Given the description of an element on the screen output the (x, y) to click on. 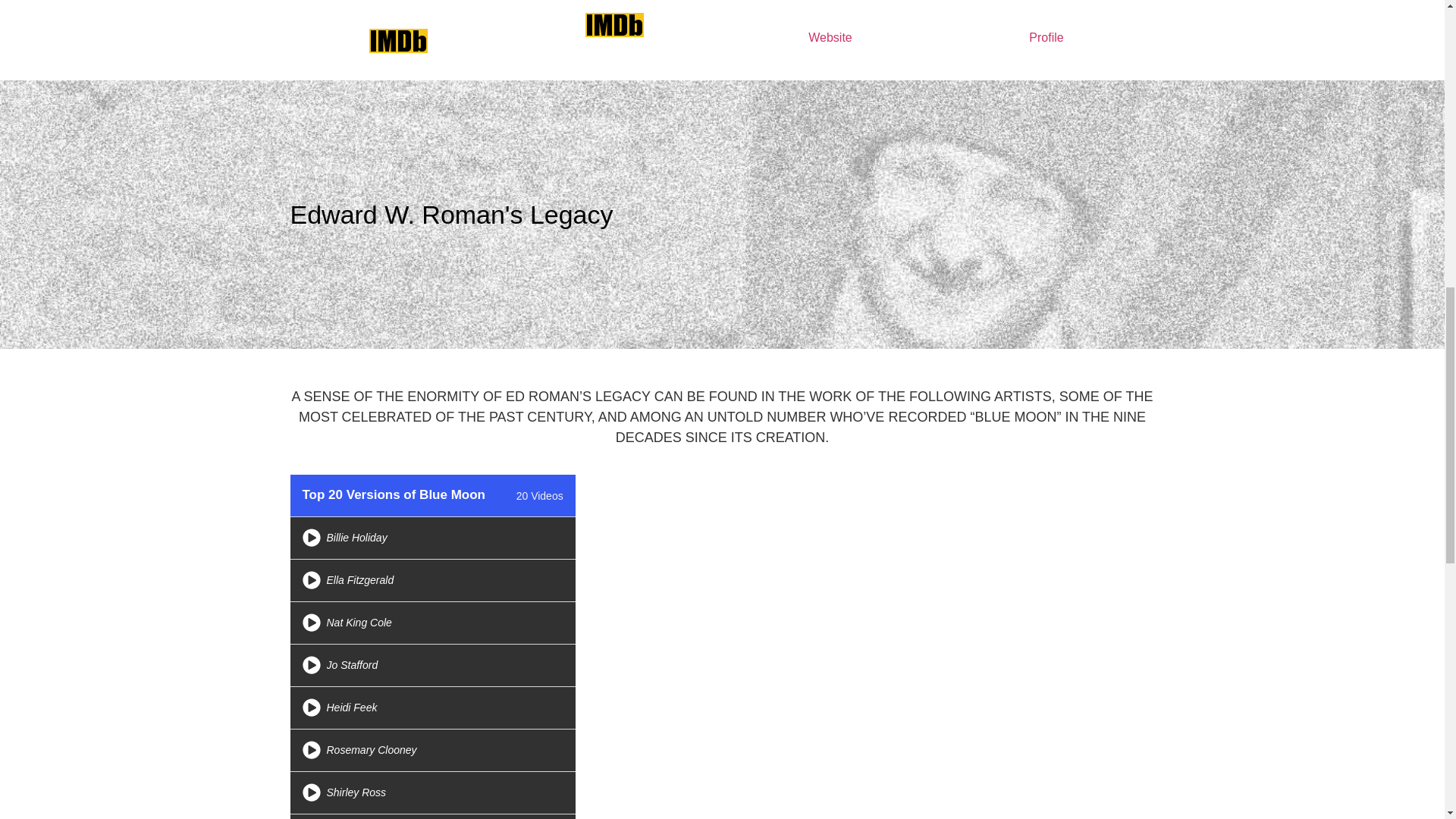
Billie Holiday (356, 537)
Website (829, 37)
Profile (1045, 37)
Heidi Feek (351, 707)
Shirley Ross (355, 792)
Rosemary Clooney (371, 749)
Nat King Cole (358, 622)
Jo Stafford (351, 664)
Ella Fitzgerald (359, 580)
